Given the description of an element on the screen output the (x, y) to click on. 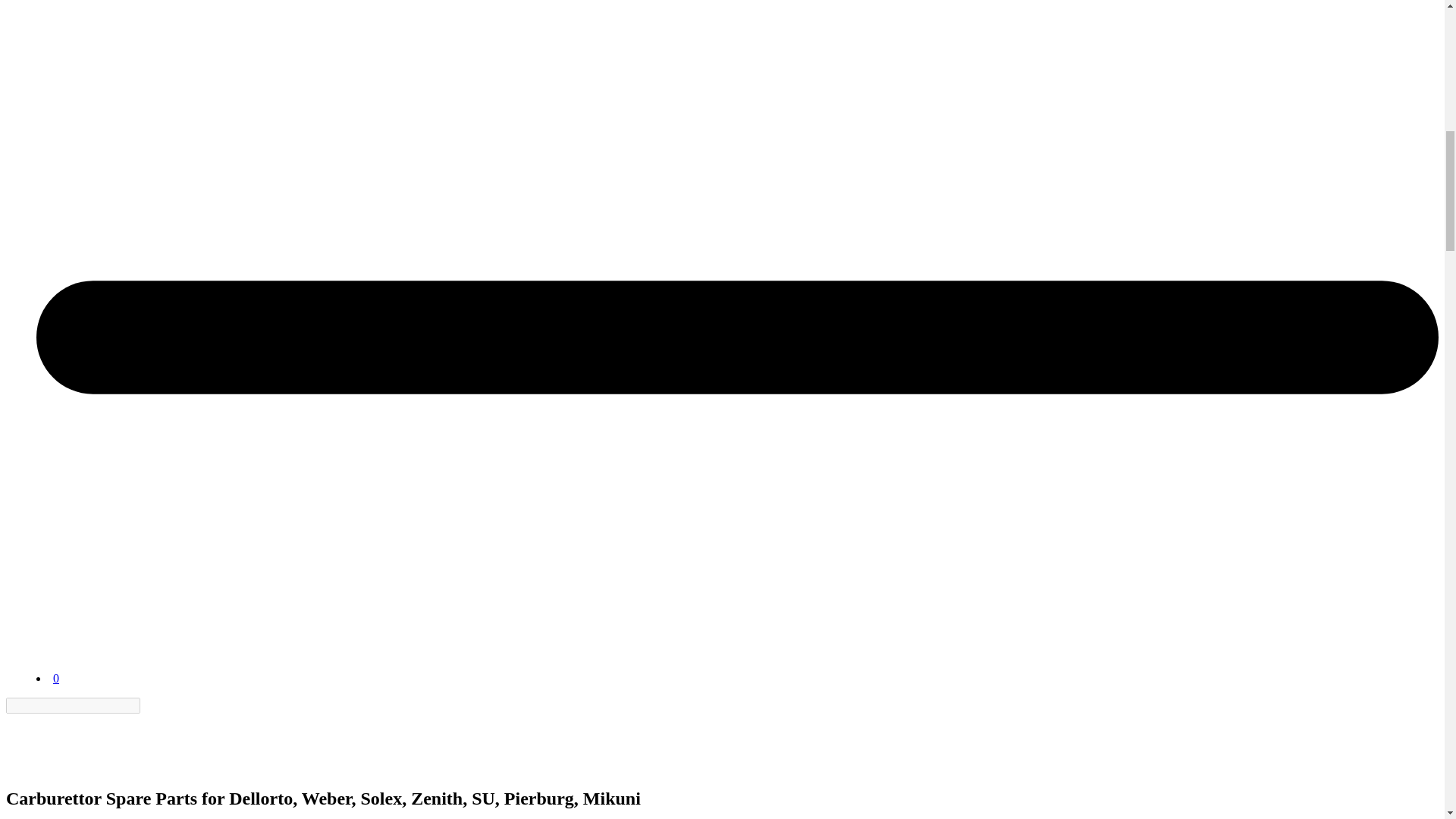
Dellorto Shop Carburettor Shop Ricambi Carburatori (43, 741)
Dellorto Shop Carburettor Shop Ricambi Carburatori (74, 664)
Dellorto Shop Carburettor Shop Ricambi Carburatori (43, 766)
Dellorto Shop Carburettor Shop Ricambi Carburatori (74, 640)
Find (148, 705)
